Given the description of an element on the screen output the (x, y) to click on. 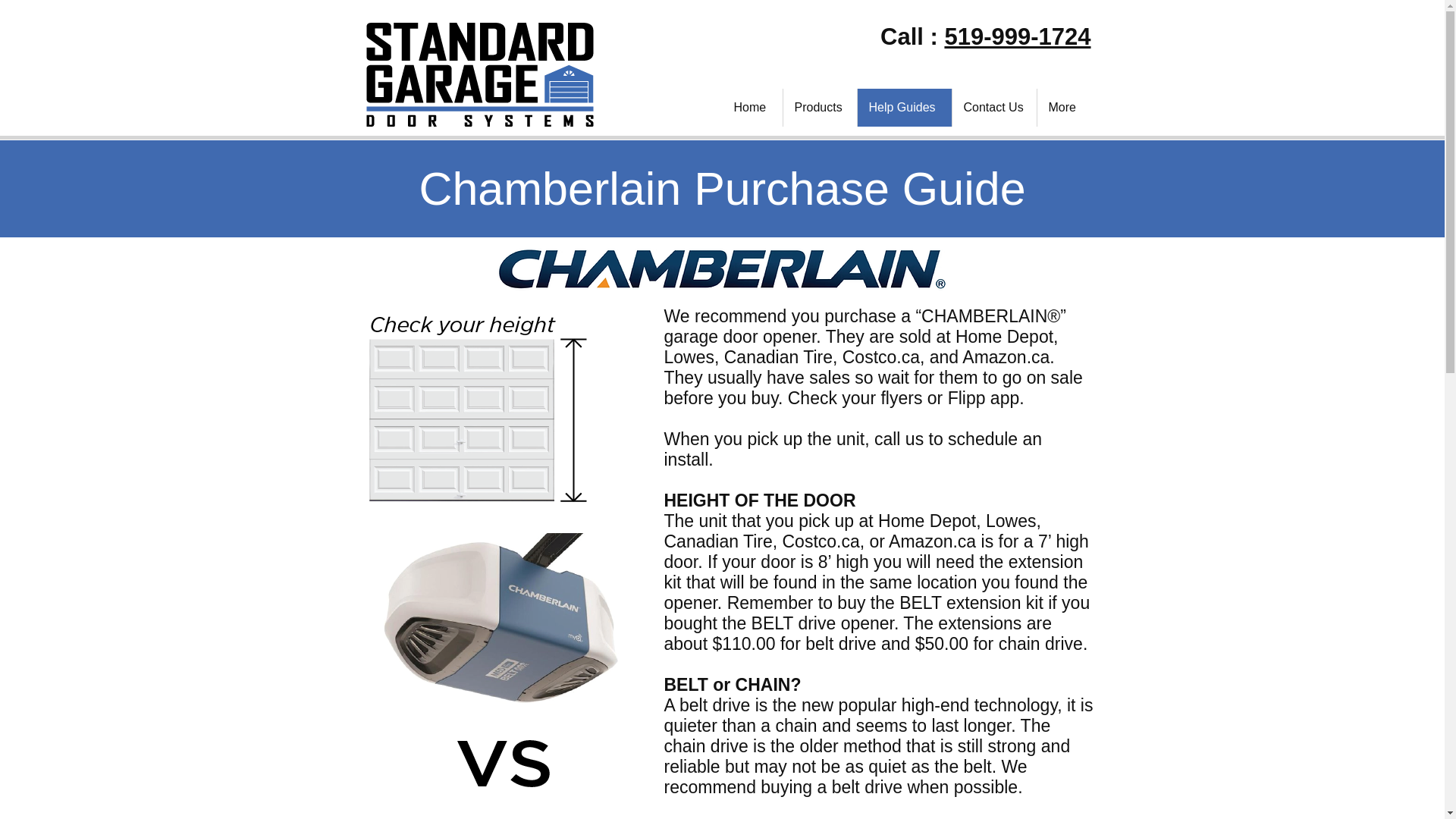
Home (751, 107)
Contact Us (992, 107)
Products (820, 107)
Help Guides (904, 107)
519-999-1724 (1016, 36)
